Given the description of an element on the screen output the (x, y) to click on. 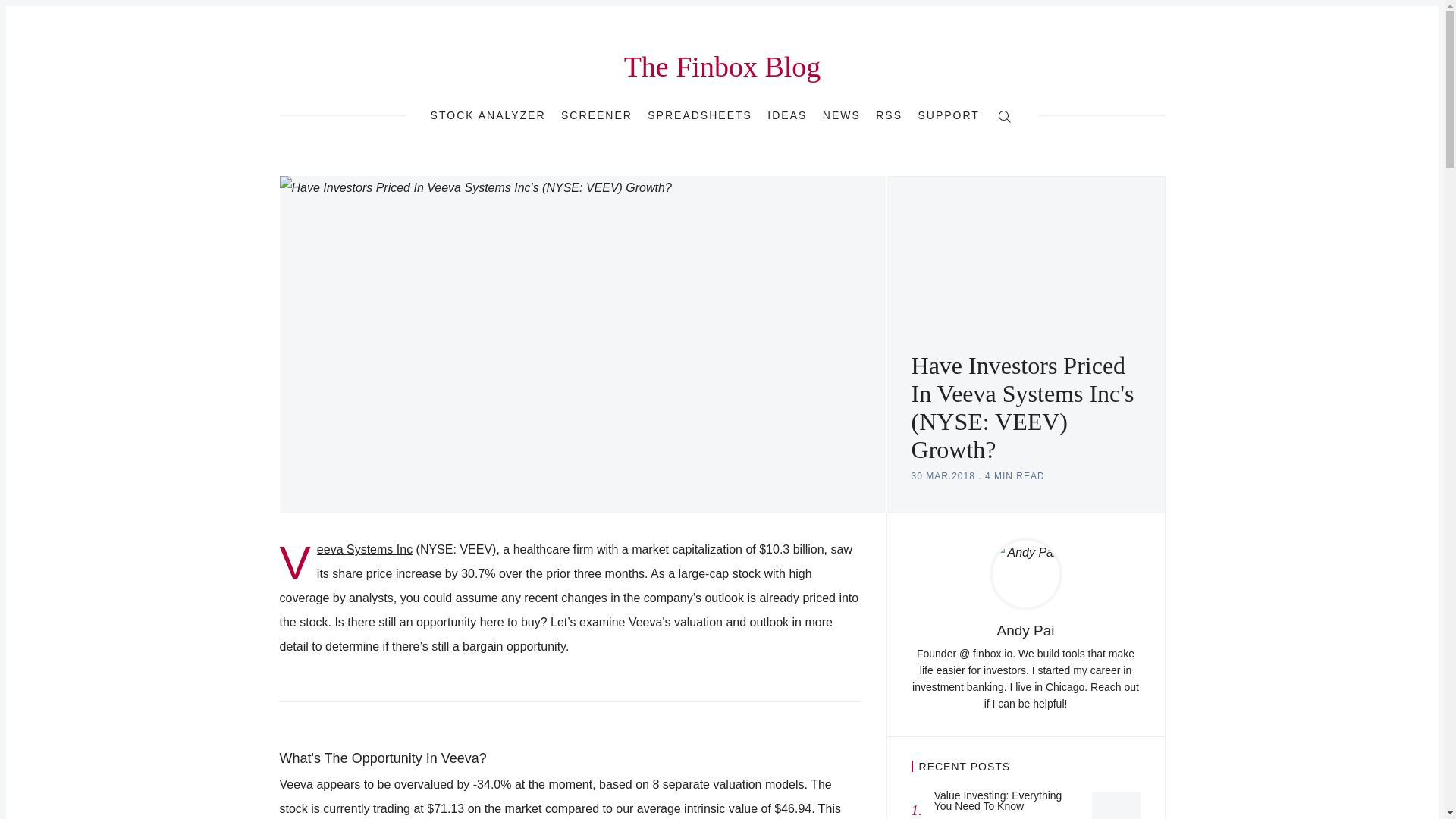
NEWS (841, 114)
IDEAS (786, 114)
SPREADSHEETS (699, 114)
STOCK ANALYZER (488, 114)
SUPPORT (947, 114)
RSS (889, 114)
SCREENER (595, 114)
Andy Pai (1024, 630)
Veeva Systems Inc (364, 549)
The Finbox Blog (1025, 804)
